Given the description of an element on the screen output the (x, y) to click on. 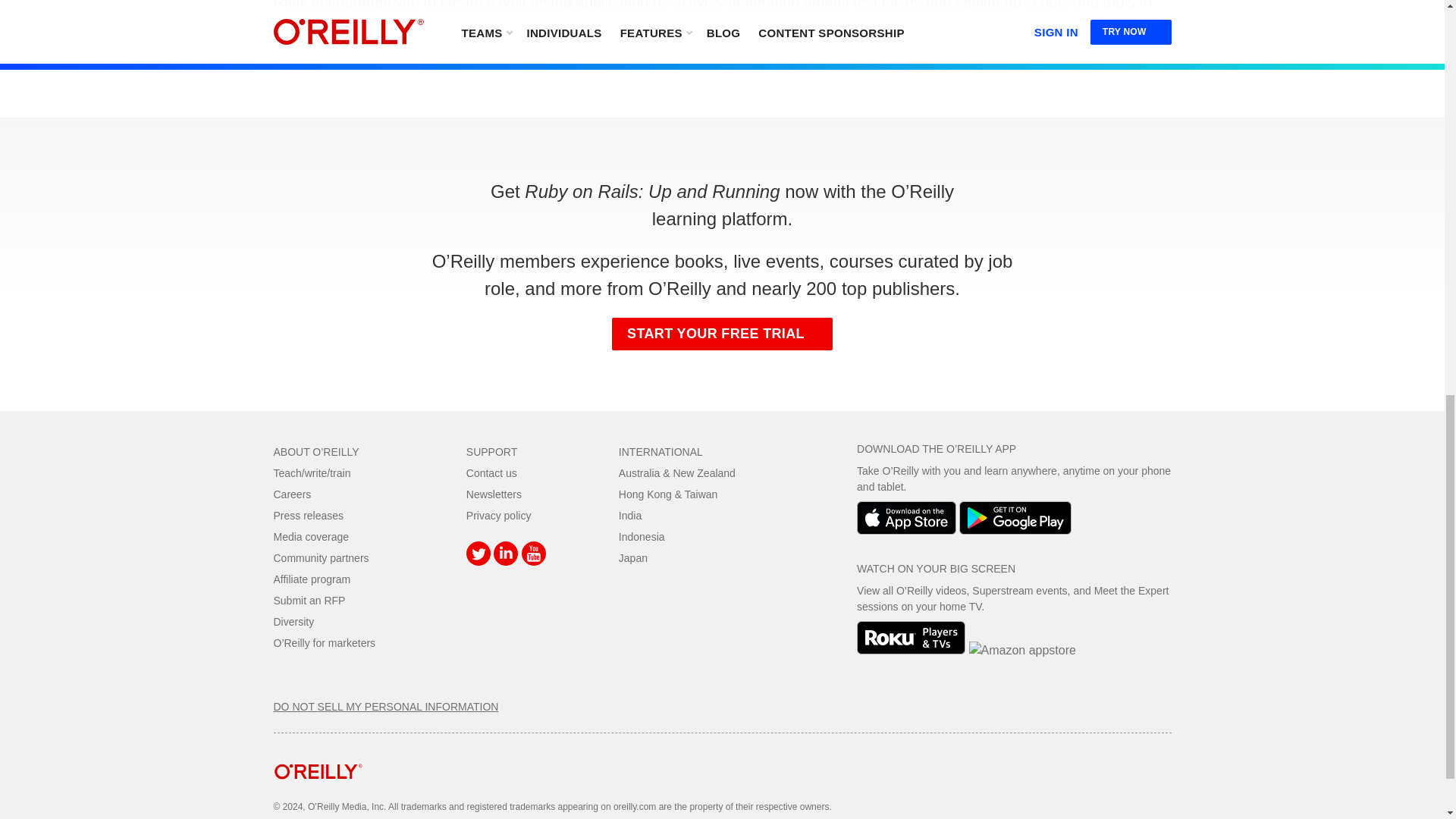
Submit an RFP (309, 600)
Privacy policy (498, 515)
Background (721, 18)
Newsletters (493, 494)
Press releases (308, 515)
SUPPORT (490, 451)
Contact us (490, 472)
Careers (292, 494)
Affiliate program (311, 579)
